Given the description of an element on the screen output the (x, y) to click on. 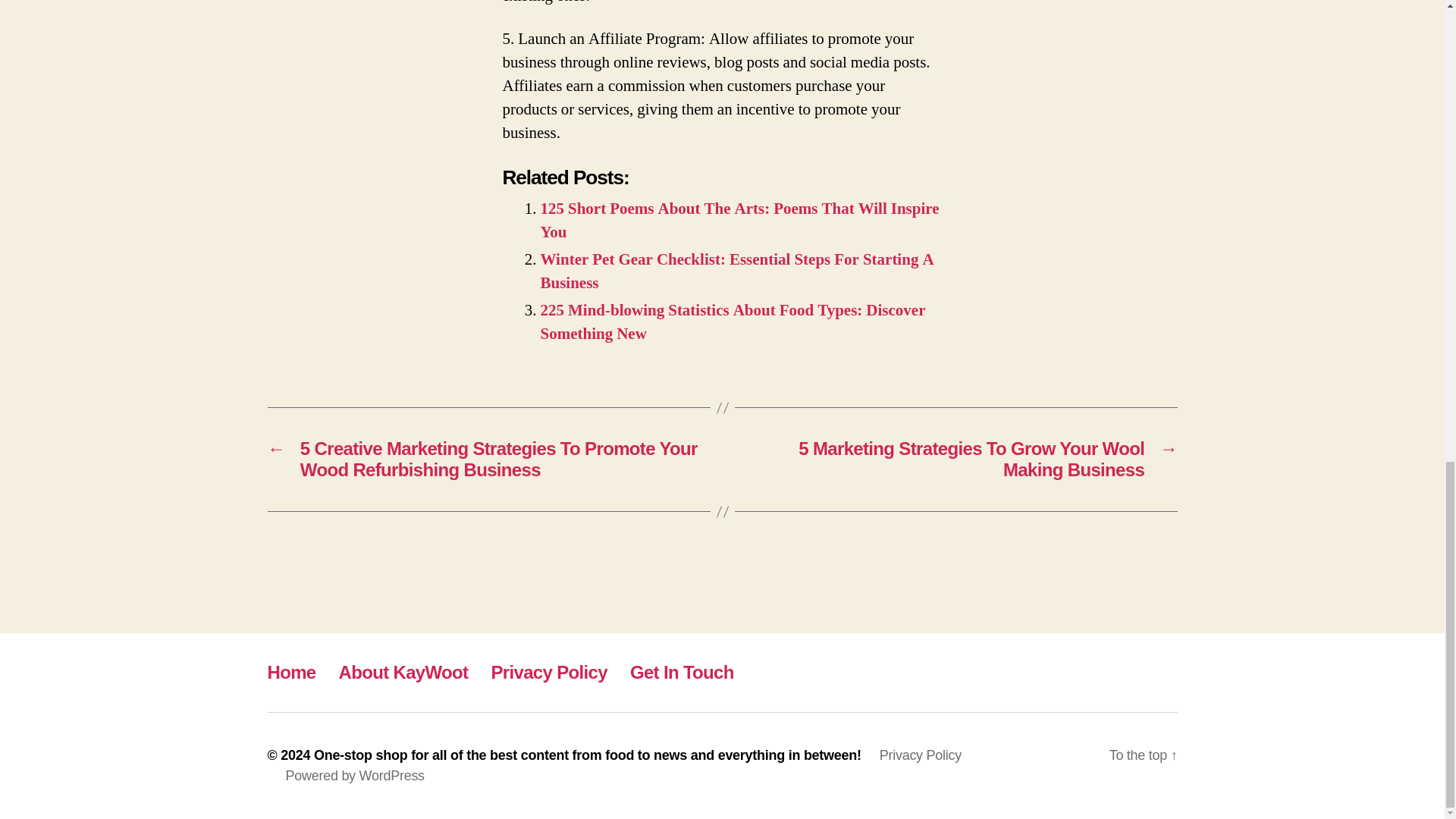
125 Short Poems About The Arts: Poems That Will Inspire You (739, 220)
